Given the description of an element on the screen output the (x, y) to click on. 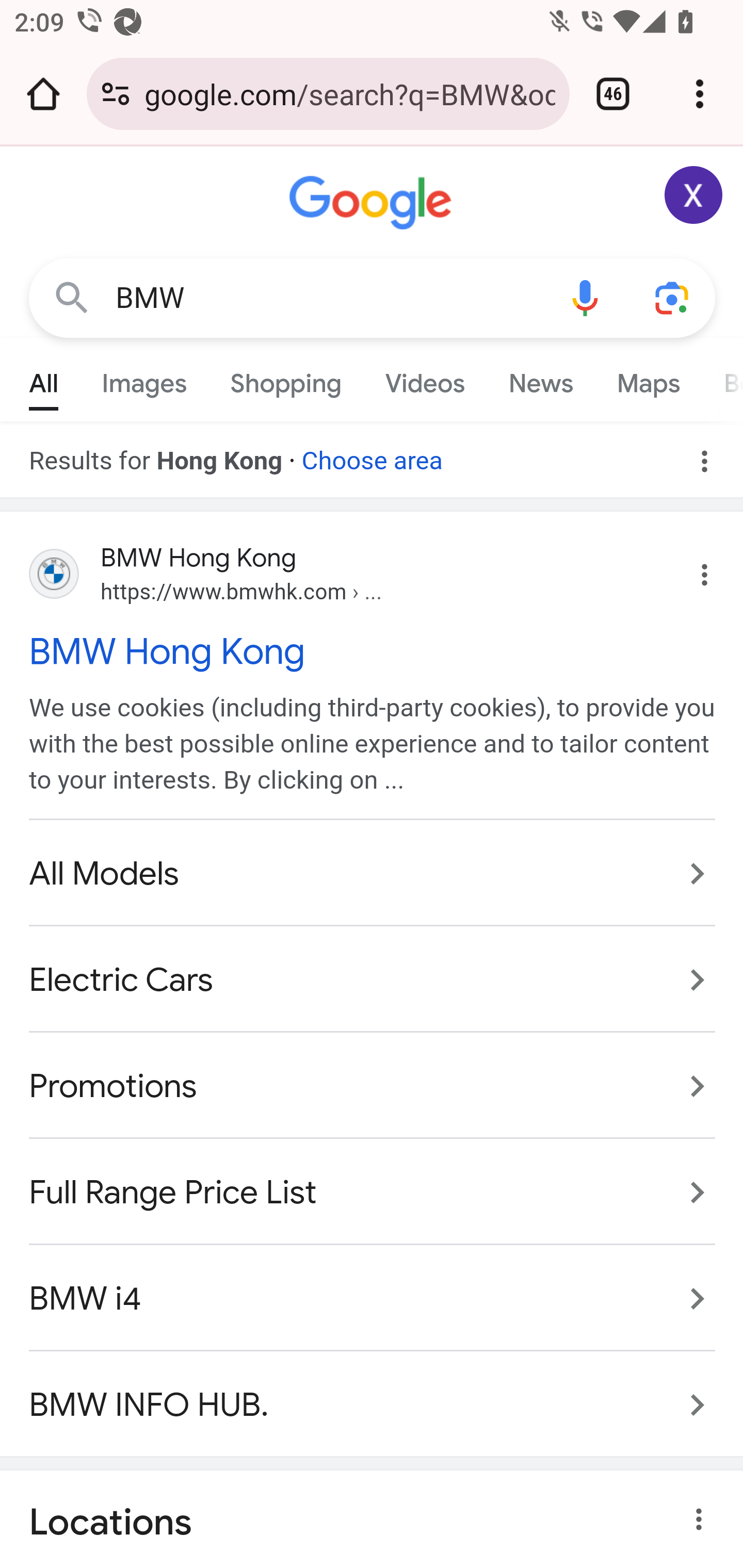
Open the home page (43, 93)
Connection is secure (115, 93)
Switch or close tabs (612, 93)
Customize and control Google Chrome (699, 93)
Google (372, 203)
Google Account: Xiaoran (zxrappiumtest@gmail.com) (694, 195)
Google Search (71, 296)
Search using your camera or photos (672, 296)
BMW (328, 297)
Images (144, 378)
Shopping (285, 378)
Videos (424, 378)
News (540, 378)
Maps (647, 378)
Choose area (371, 453)
BMW Hong Kong (372, 651)
All Models (372, 874)
Electric Cars (372, 981)
Promotions (372, 1087)
Full Range Price List (372, 1191)
BMW i4 (372, 1297)
BMW INFO HUB. (372, 1393)
About this result (702, 1519)
